Given the description of an element on the screen output the (x, y) to click on. 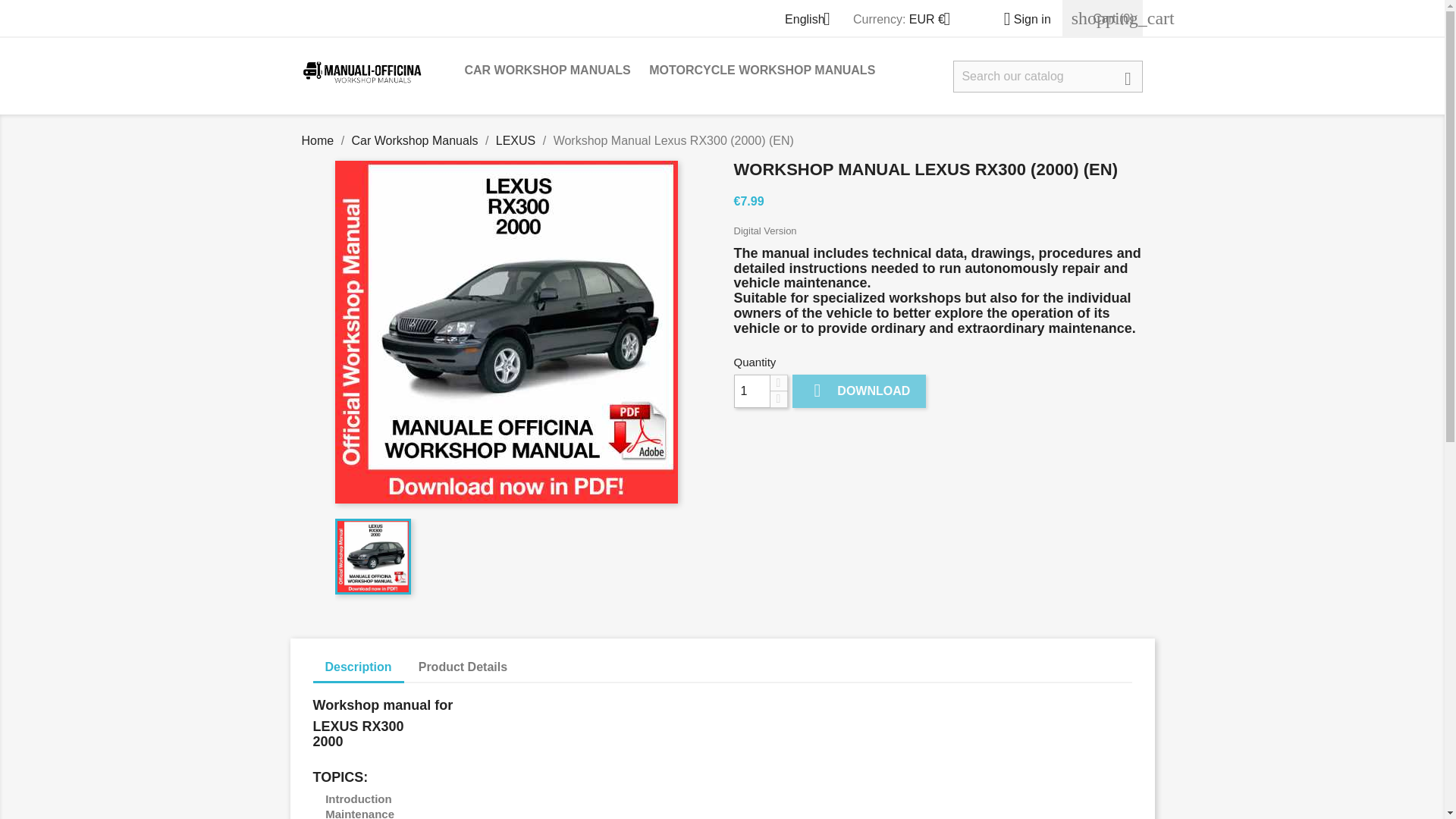
Log in to your customer account (1020, 19)
CAR WORKSHOP MANUALS (547, 71)
Workshop Manual Lexus RX300 (372, 556)
1 (751, 390)
Workshop Manual Lexus RX300 (506, 331)
